Given the description of an element on the screen output the (x, y) to click on. 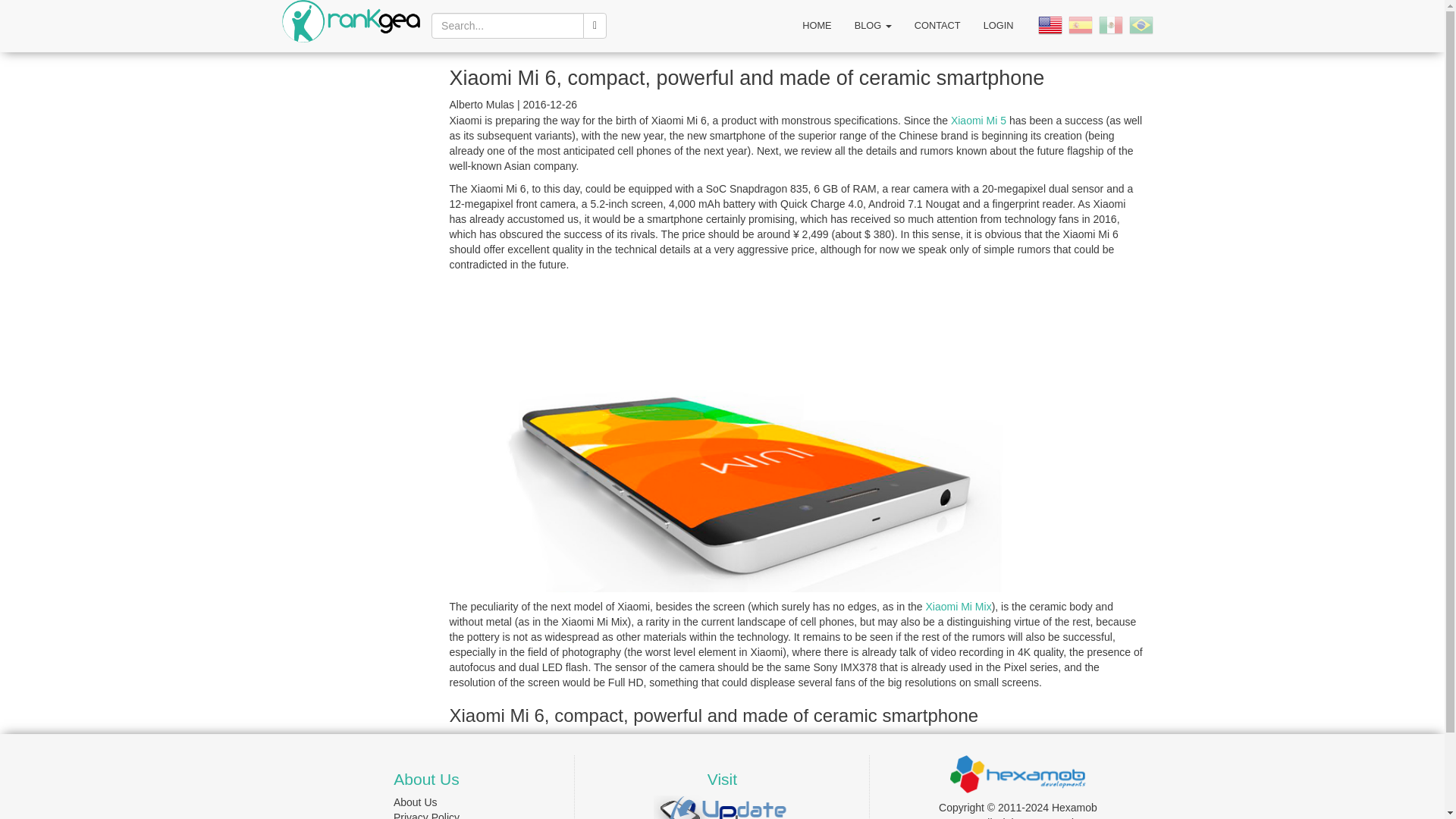
CONTACT (937, 25)
es-LA (1111, 24)
Privacy Policy (426, 815)
LOGIN (998, 25)
Xiaomi Mi 5 (978, 120)
pt-BR (1141, 24)
update-phones.com (721, 812)
hexamob.com (1017, 772)
HOME (816, 25)
BLOG (872, 25)
es-ES (1080, 24)
About Us (415, 802)
en-US (1050, 24)
Xiaomi Mi Mix (958, 606)
